Given the description of an element on the screen output the (x, y) to click on. 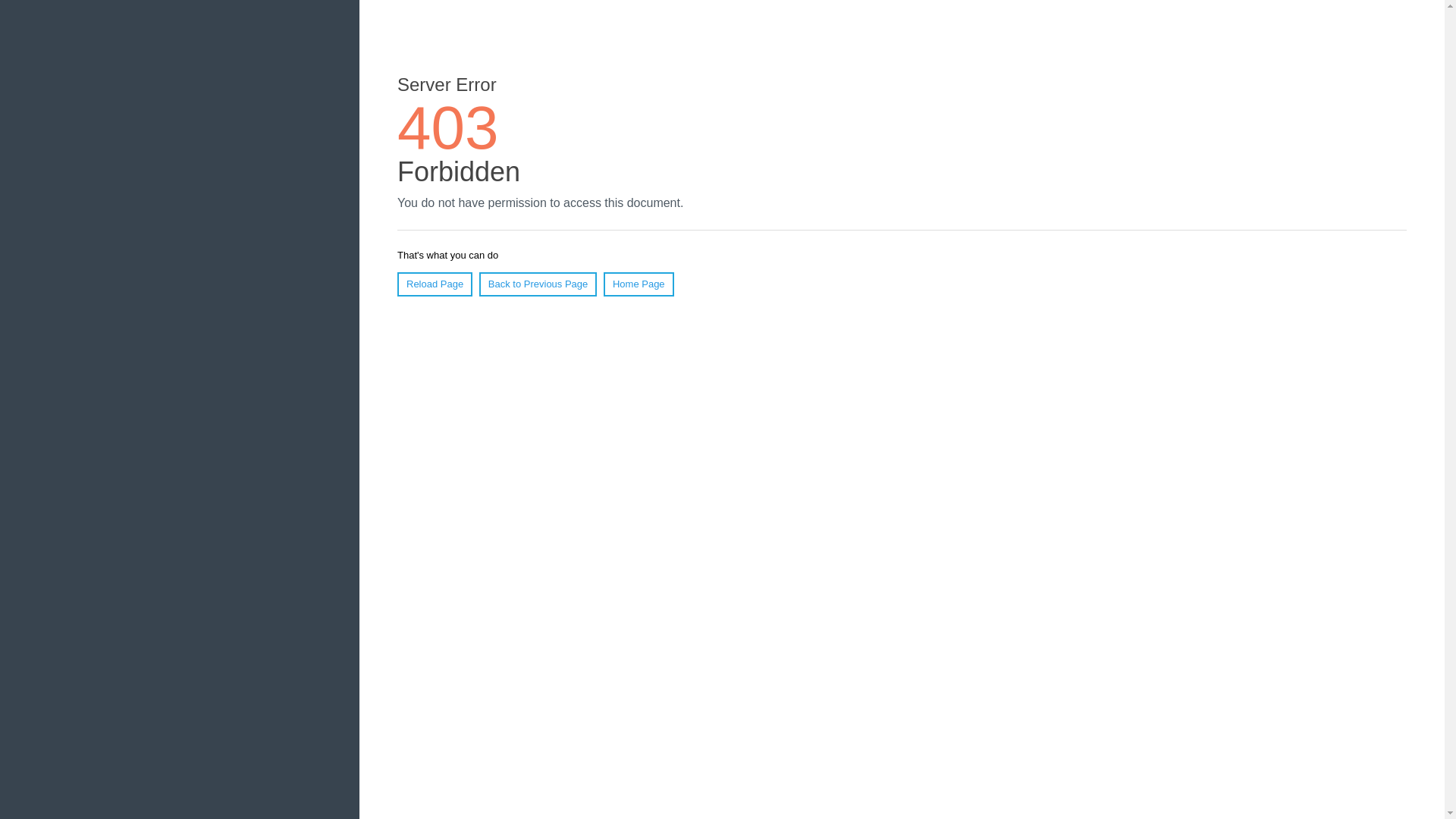
Back to Previous Page (537, 283)
Reload Page (434, 283)
Home Page (639, 283)
